Given the description of an element on the screen output the (x, y) to click on. 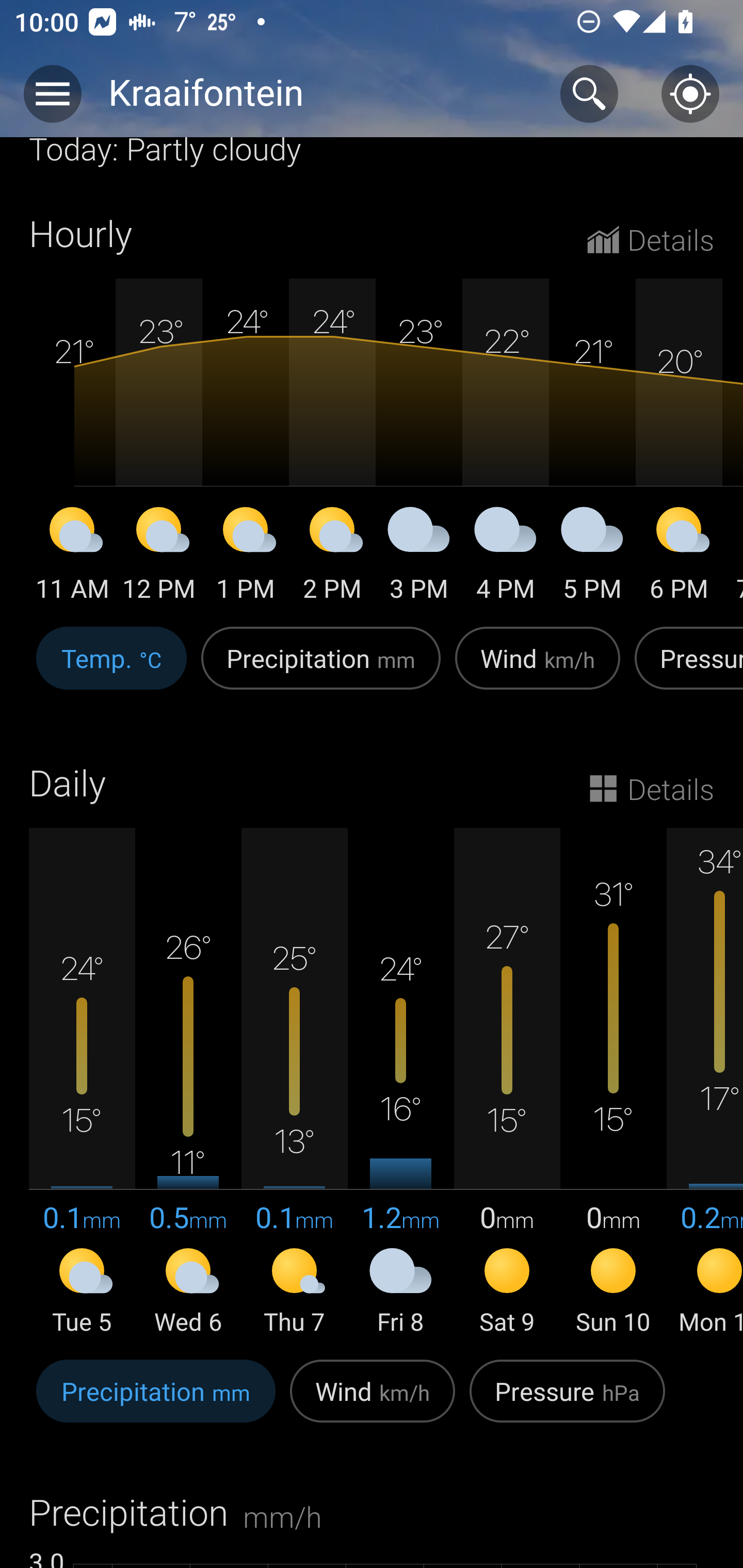
11 AM (71, 557)
12 PM (158, 557)
1 PM (245, 557)
2 PM (332, 557)
3 PM (418, 557)
4 PM (505, 557)
5 PM (592, 557)
6 PM (679, 557)
Temp. °C (110, 668)
Precipitation mm (320, 668)
Wind km/h (537, 668)
Pressure (685, 668)
24° 15° 0.1 mm Tue 5 (81, 1082)
26° 11° 0.5 mm Wed 6 (188, 1082)
25° 13° 0.1 mm Thu 7 (294, 1082)
24° 16° 1.2 mm Fri 8 (400, 1082)
27° 15° 0 mm Sat 9 (506, 1082)
31° 15° 0 mm Sun 10 (613, 1082)
34° 17° 0.2 mm Mon 11 (704, 1082)
Precipitation mm (155, 1401)
Wind km/h (372, 1401)
Pressure hPa (567, 1401)
